Given the description of an element on the screen output the (x, y) to click on. 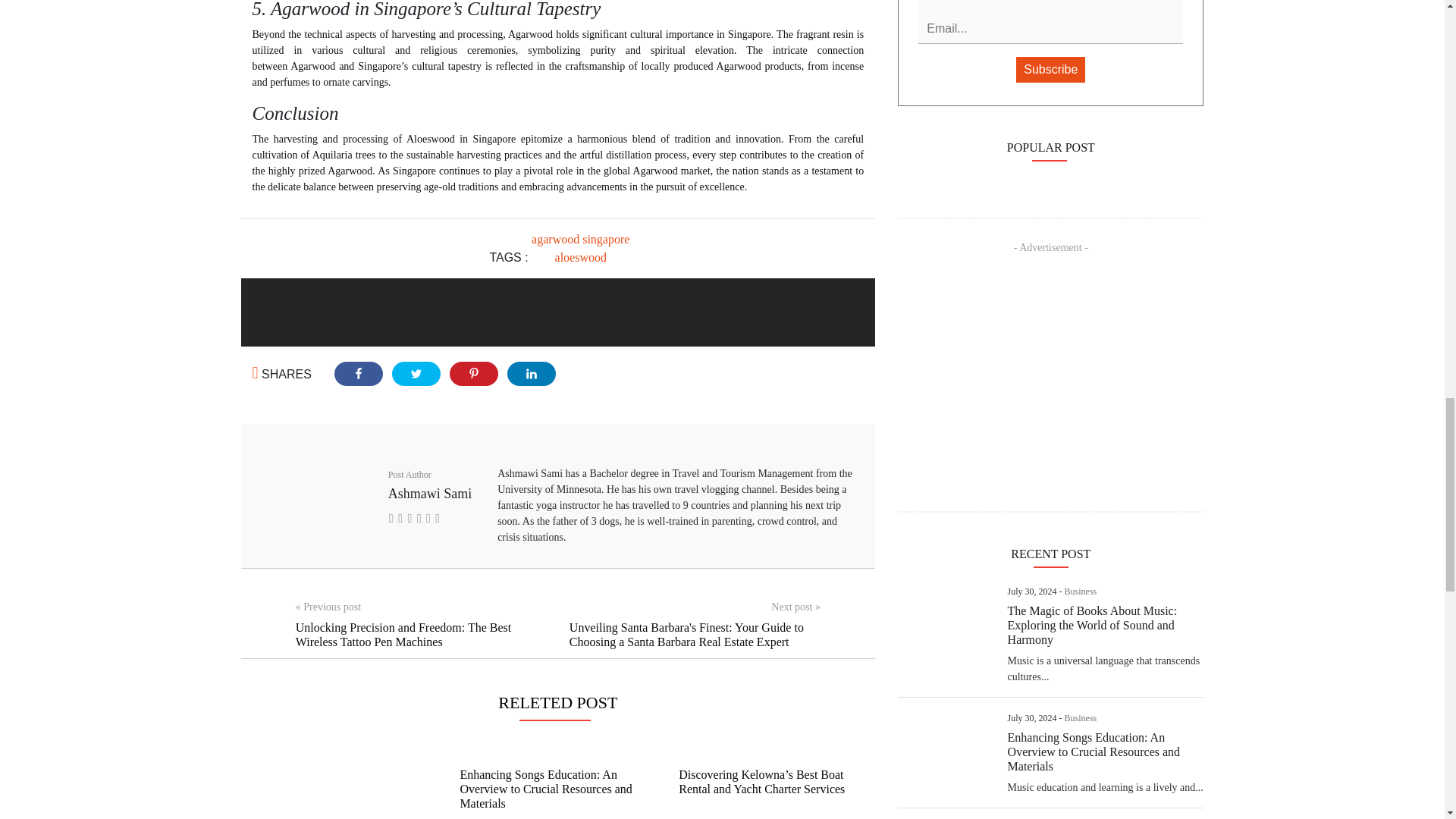
Share on LinkedIn (531, 373)
Share on Twitter (416, 373)
aloeswood (580, 256)
aloeswood Tag (580, 256)
agarwood singapore Tag (579, 238)
Share on Pinterest (473, 373)
Subscribe (1050, 69)
Share on Facebook (358, 373)
agarwood singapore (579, 238)
